Given the description of an element on the screen output the (x, y) to click on. 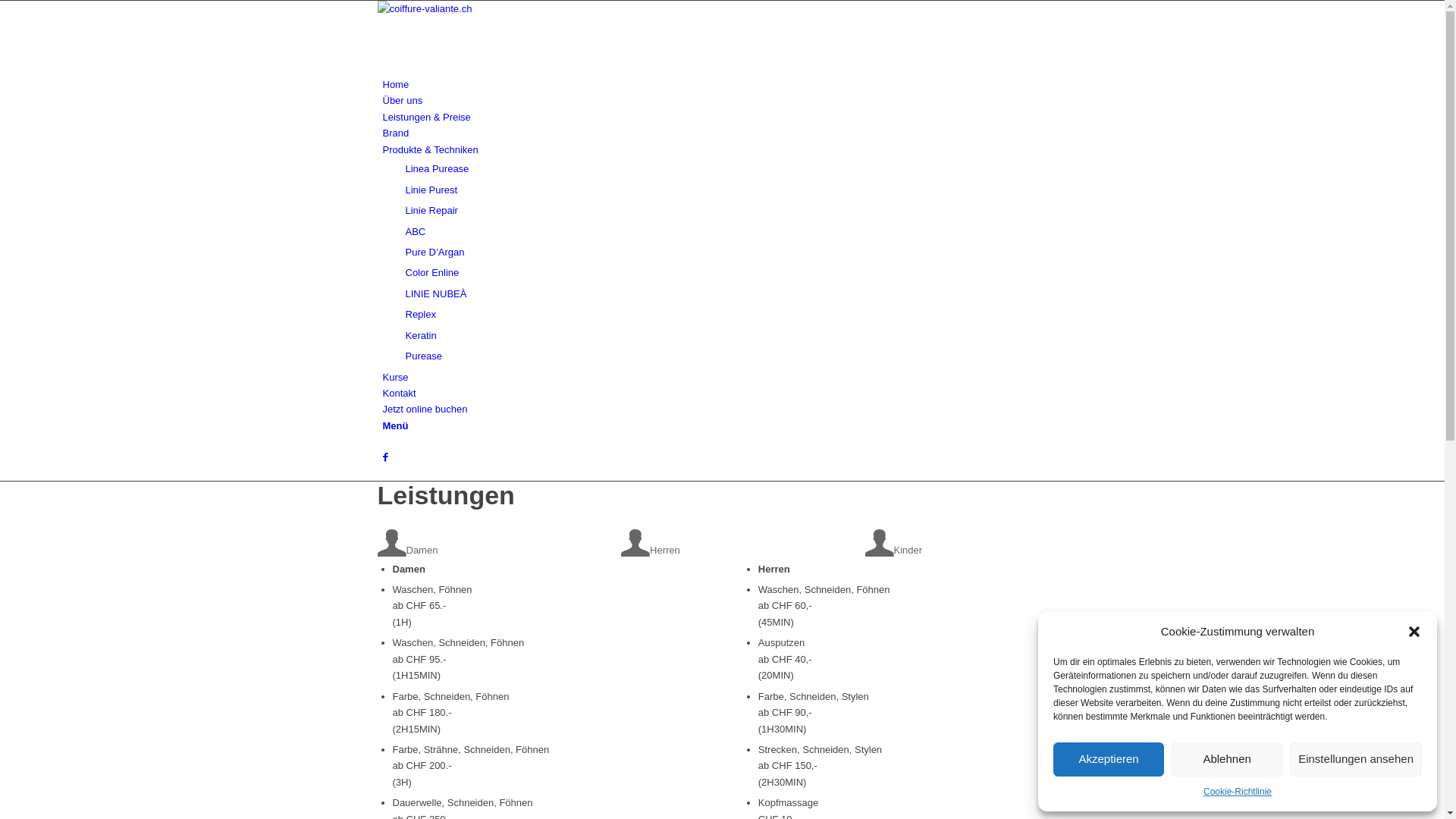
Kurse Element type: text (394, 376)
Keratin Element type: text (420, 335)
Cookie-Richtlinie Element type: text (1237, 792)
Linie Purest Element type: text (430, 189)
Color Enline Element type: text (431, 272)
Home Element type: text (395, 84)
Facebook Element type: hover (384, 456)
Einstellungen ansehen Element type: text (1355, 759)
Jetzt online buchen Element type: text (424, 408)
Ablehnen Element type: text (1226, 759)
Leistungen & Preise Element type: text (426, 116)
Kontakt Element type: text (398, 392)
Produkte & Techniken Element type: text (429, 149)
ABC Element type: text (414, 231)
Linea Purease Element type: text (436, 168)
Akzeptieren Element type: text (1108, 759)
Purease Element type: text (422, 355)
Linie Repair Element type: text (430, 210)
Brand Element type: text (395, 132)
Replex Element type: text (419, 314)
